Given the description of an element on the screen output the (x, y) to click on. 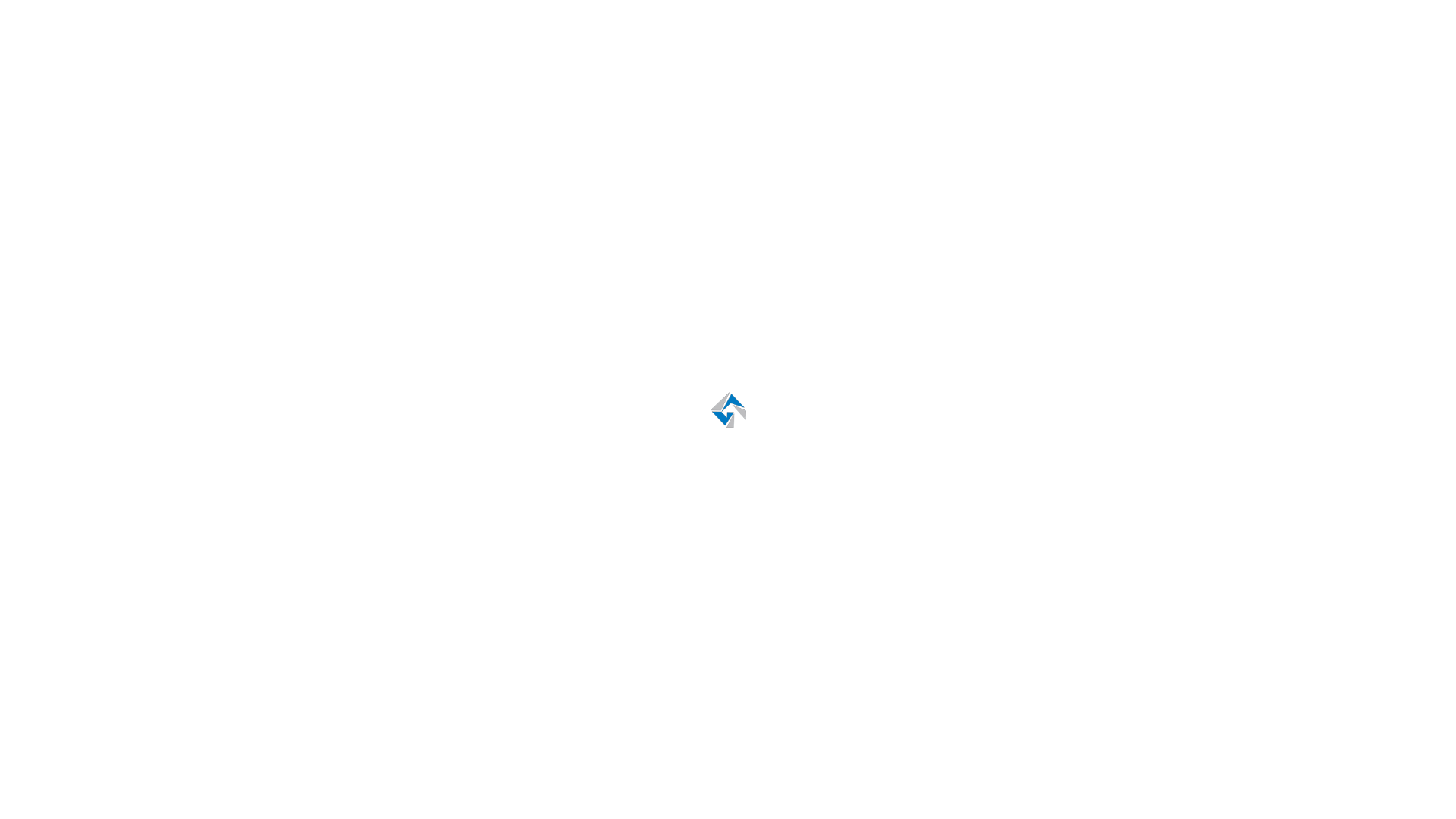
GO HOME Element type: text (727, 506)
